Given the description of an element on the screen output the (x, y) to click on. 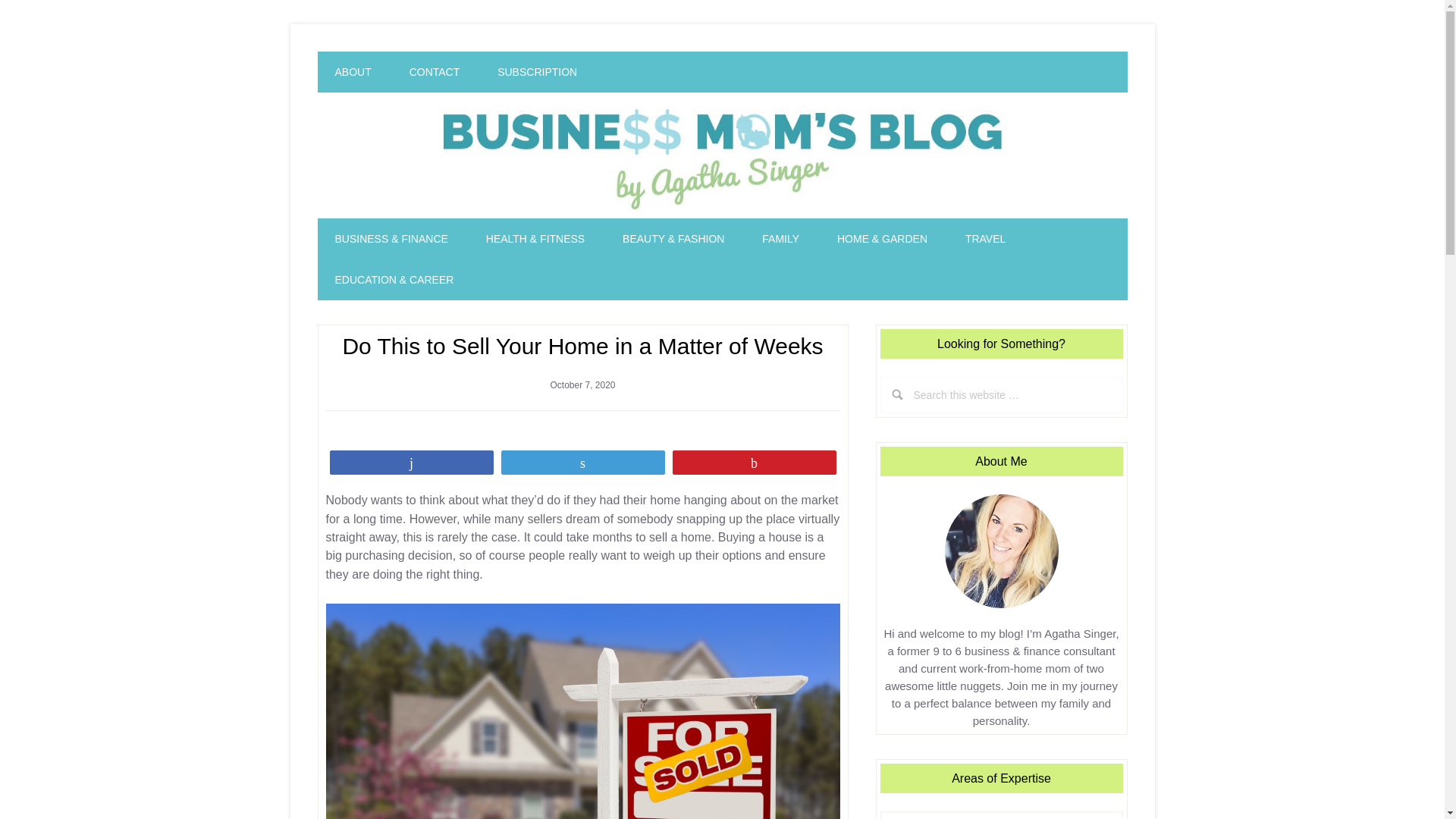
ABOUT (352, 71)
SUBSCRIPTION (537, 71)
Agatha Singer (722, 155)
FAMILY (780, 238)
CONTACT (434, 71)
